Given the description of an element on the screen output the (x, y) to click on. 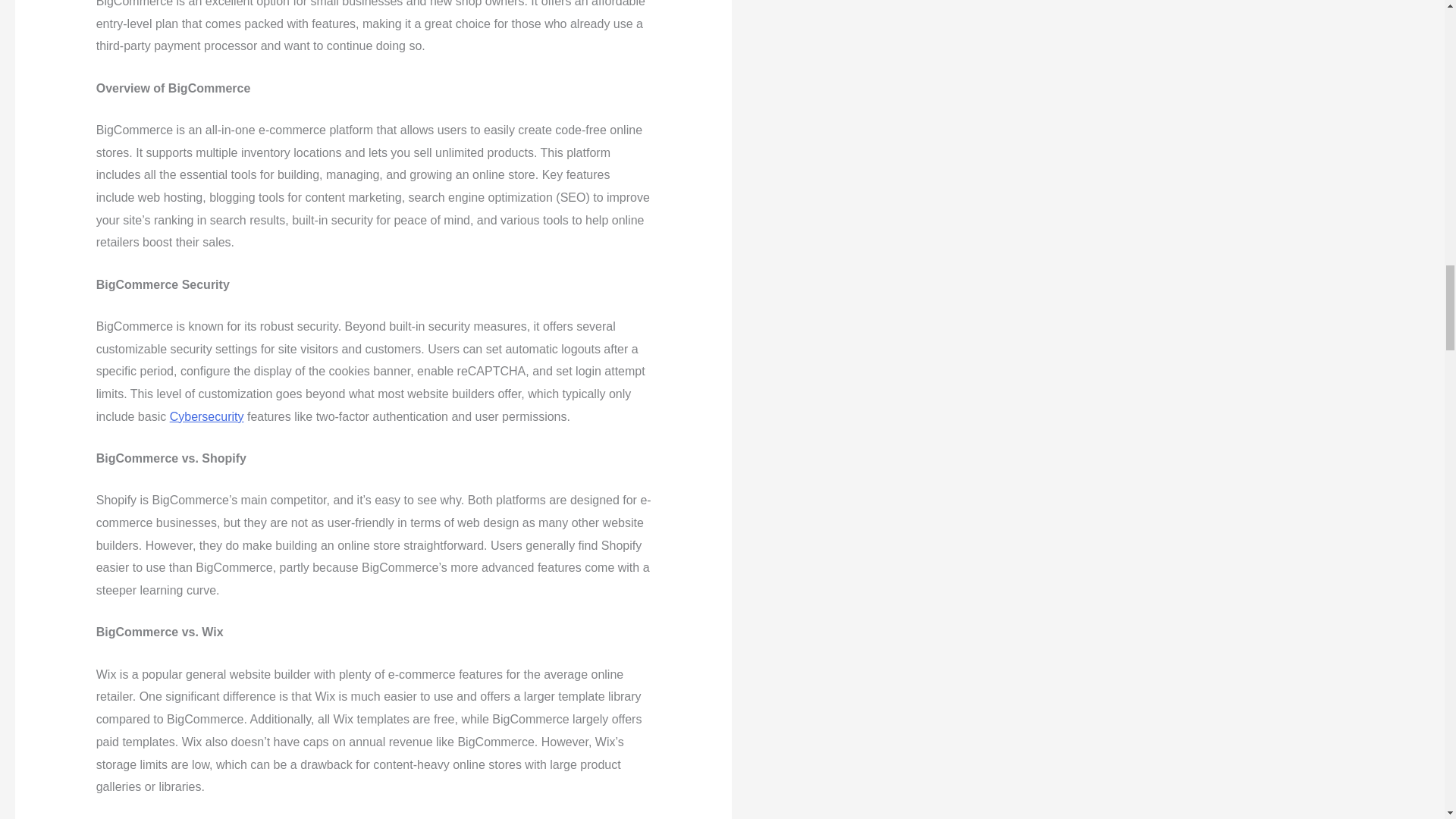
Cybersecurity (207, 416)
